Given the description of an element on the screen output the (x, y) to click on. 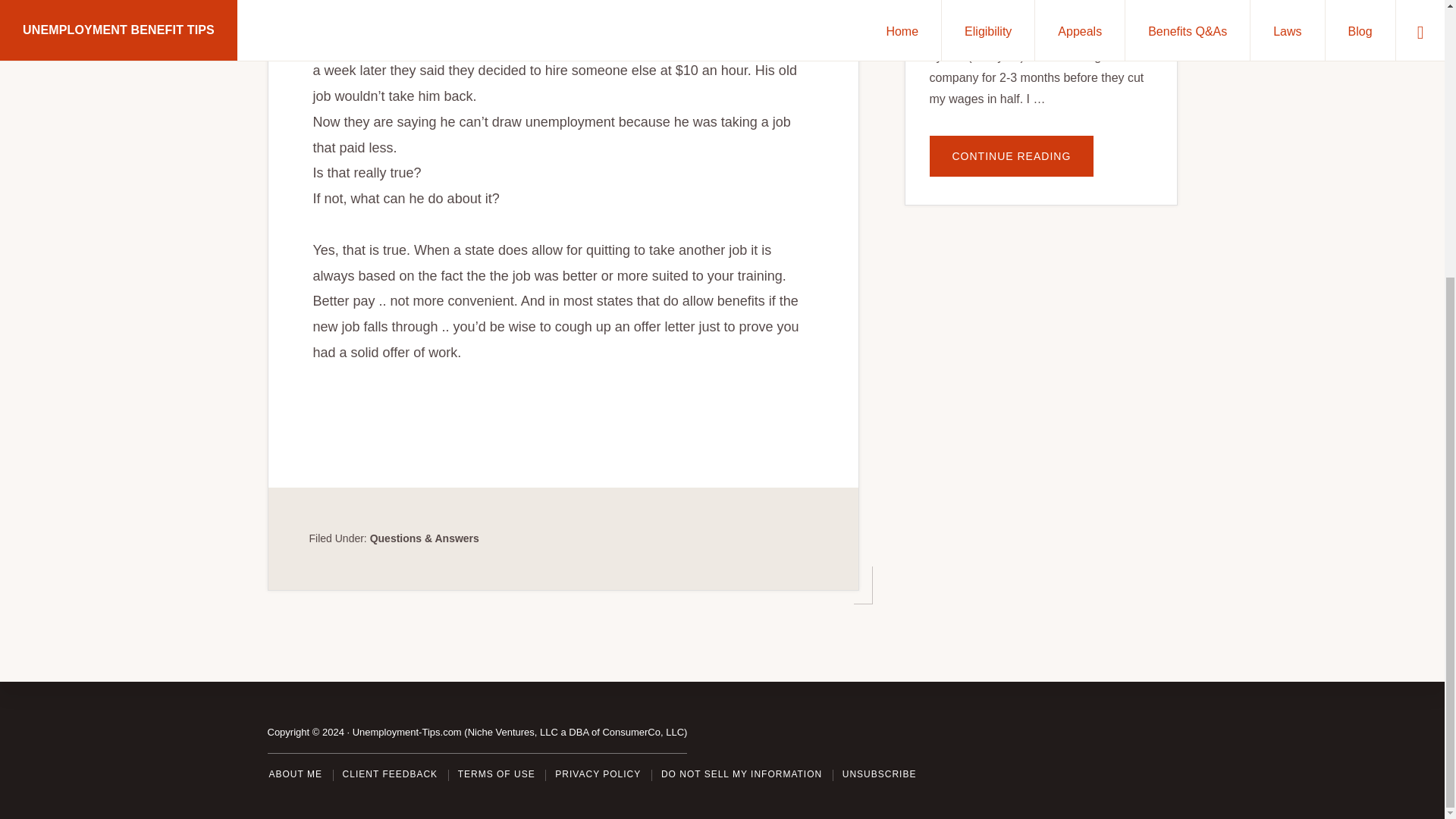
TERMS OF USE (496, 363)
Worked, wages cut, went to school, dropped out of school (1028, 13)
ABOUT ME (294, 363)
DO NOT SELL MY INFORMATION (741, 363)
CLIENT FEEDBACK (390, 363)
PRIVACY POLICY (597, 363)
UNSUBSCRIBE (880, 363)
